Given the description of an element on the screen output the (x, y) to click on. 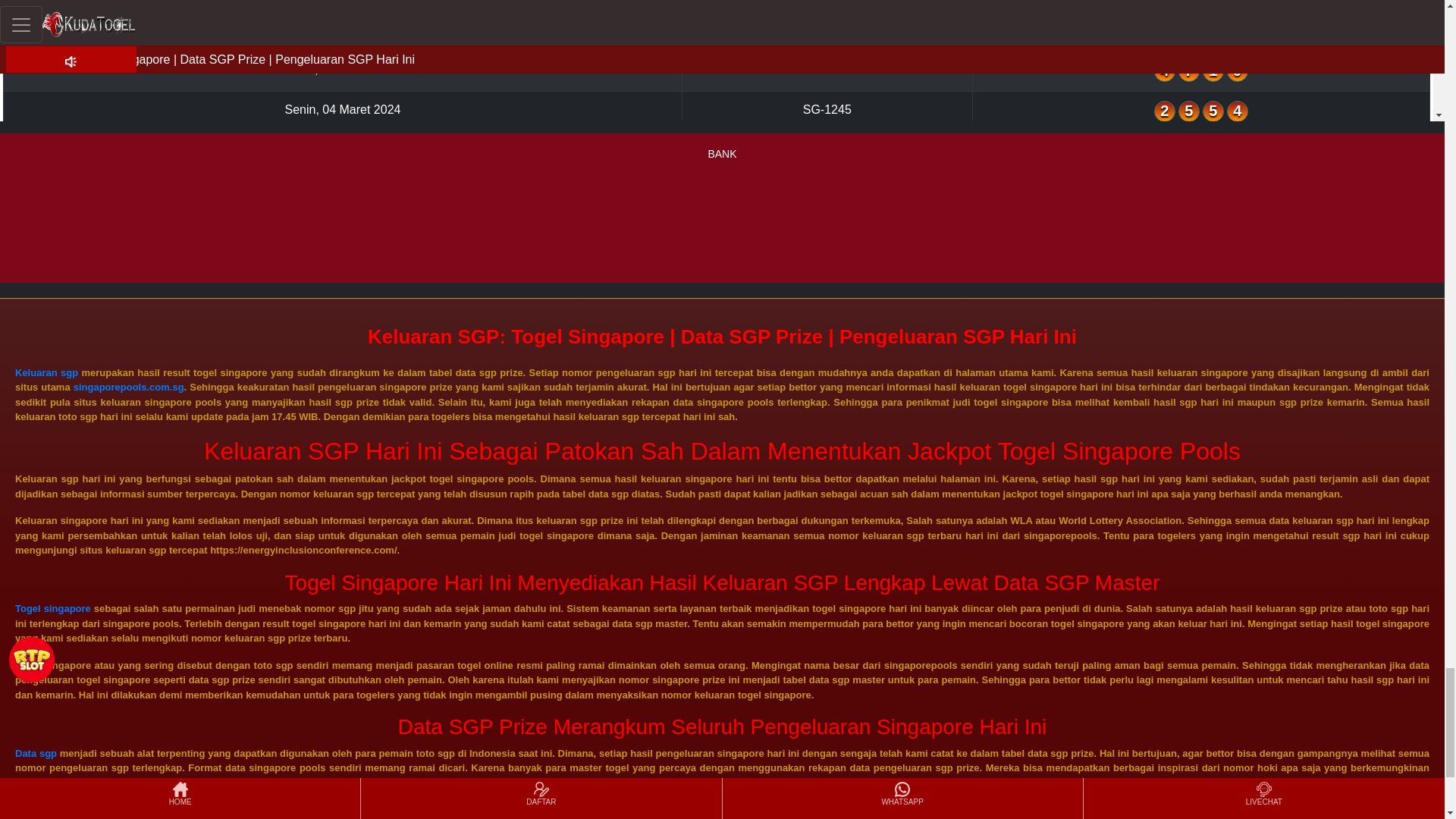
singaporepools.com.sg (129, 387)
Data sgp (35, 753)
Keluaran sgp (46, 372)
Togel singapore (52, 608)
